Given the description of an element on the screen output the (x, y) to click on. 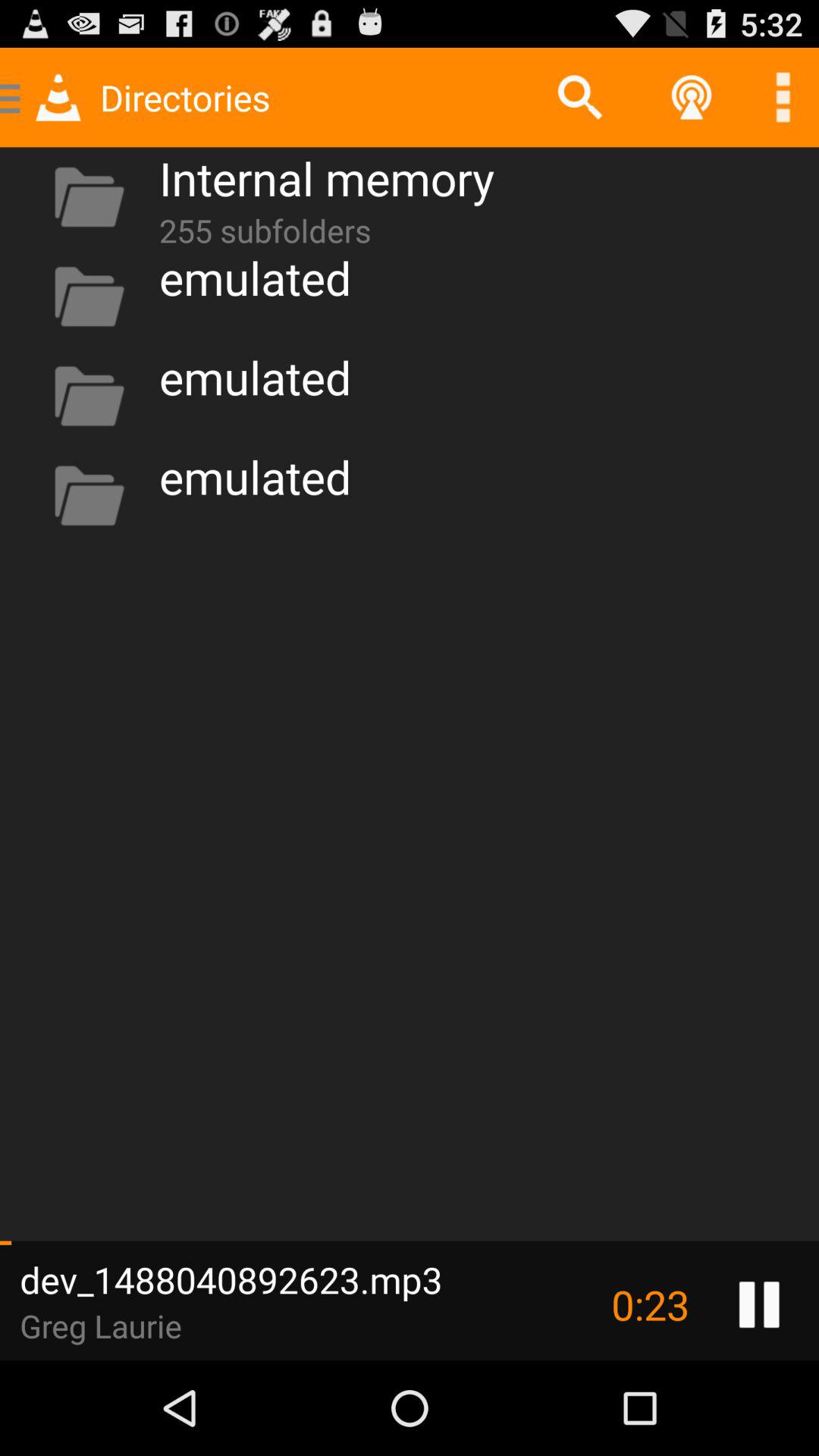
select the app above 255 subfolders icon (326, 177)
